Given the description of an element on the screen output the (x, y) to click on. 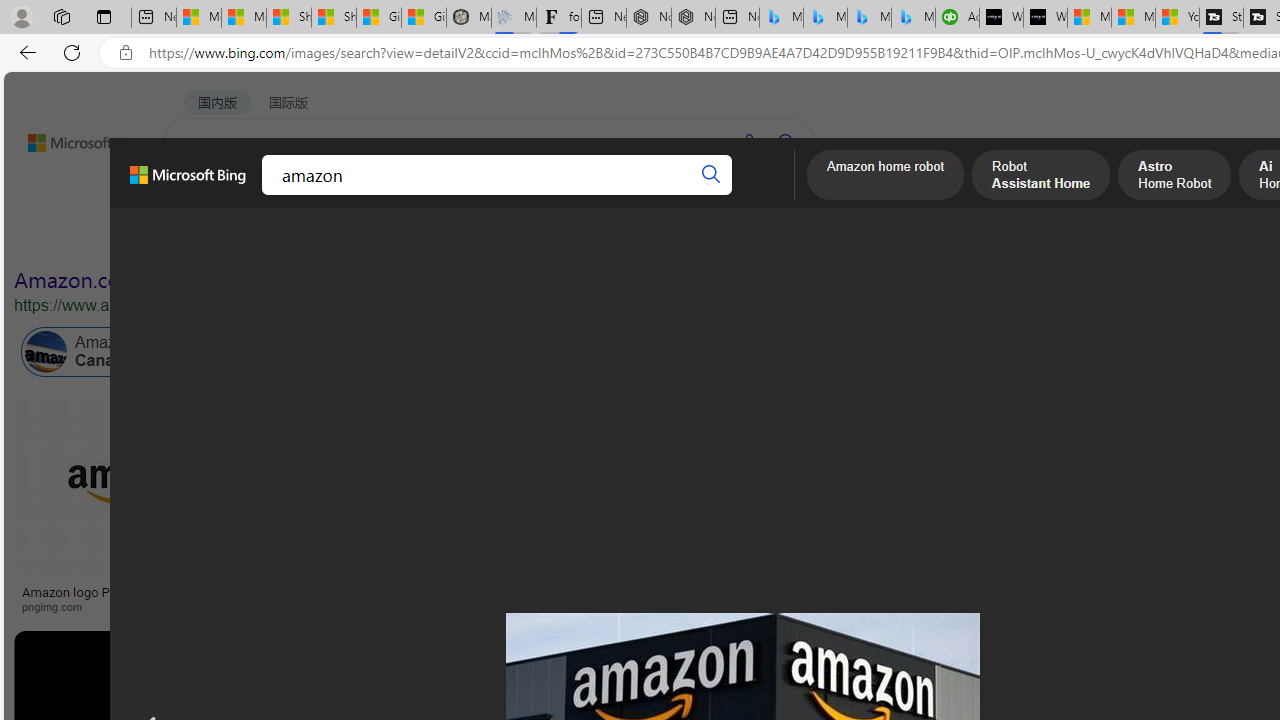
Gilma and Hector both pose tropical trouble for Hawaii (423, 17)
Amazon Canada Online (45, 351)
IMAGES (274, 195)
Microsoft Bing Travel - Stays in Bangkok, Bangkok, Thailand (825, 17)
License (665, 237)
Class: item col (893, 351)
Shanghai, China weather forecast | Microsoft Weather (333, 17)
Layout (443, 237)
Amazon Prime Online (241, 351)
Color (305, 237)
Alexa Smart Home Devices (1183, 584)
